Given the description of an element on the screen output the (x, y) to click on. 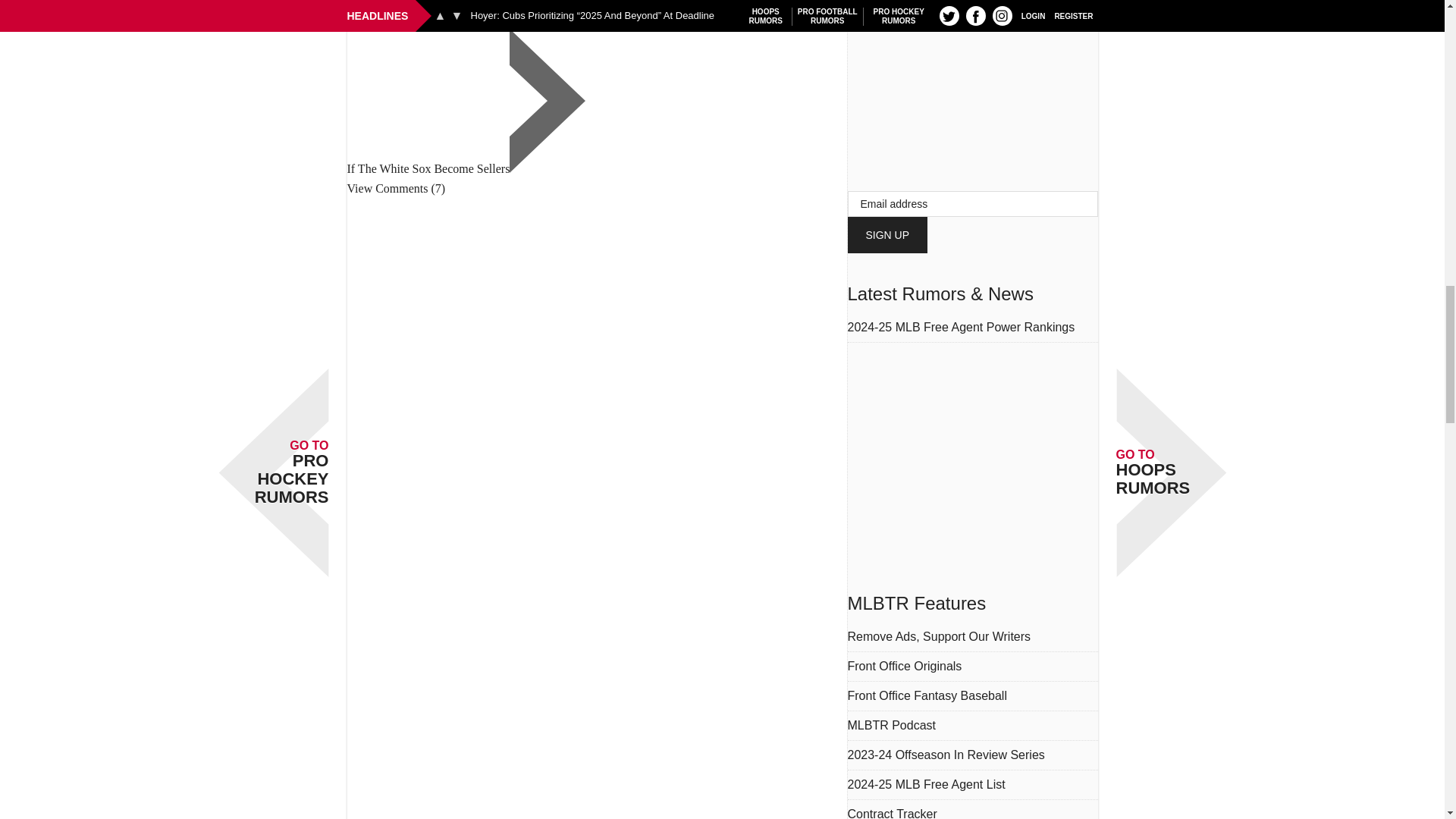
Sign Up (887, 235)
